Given the description of an element on the screen output the (x, y) to click on. 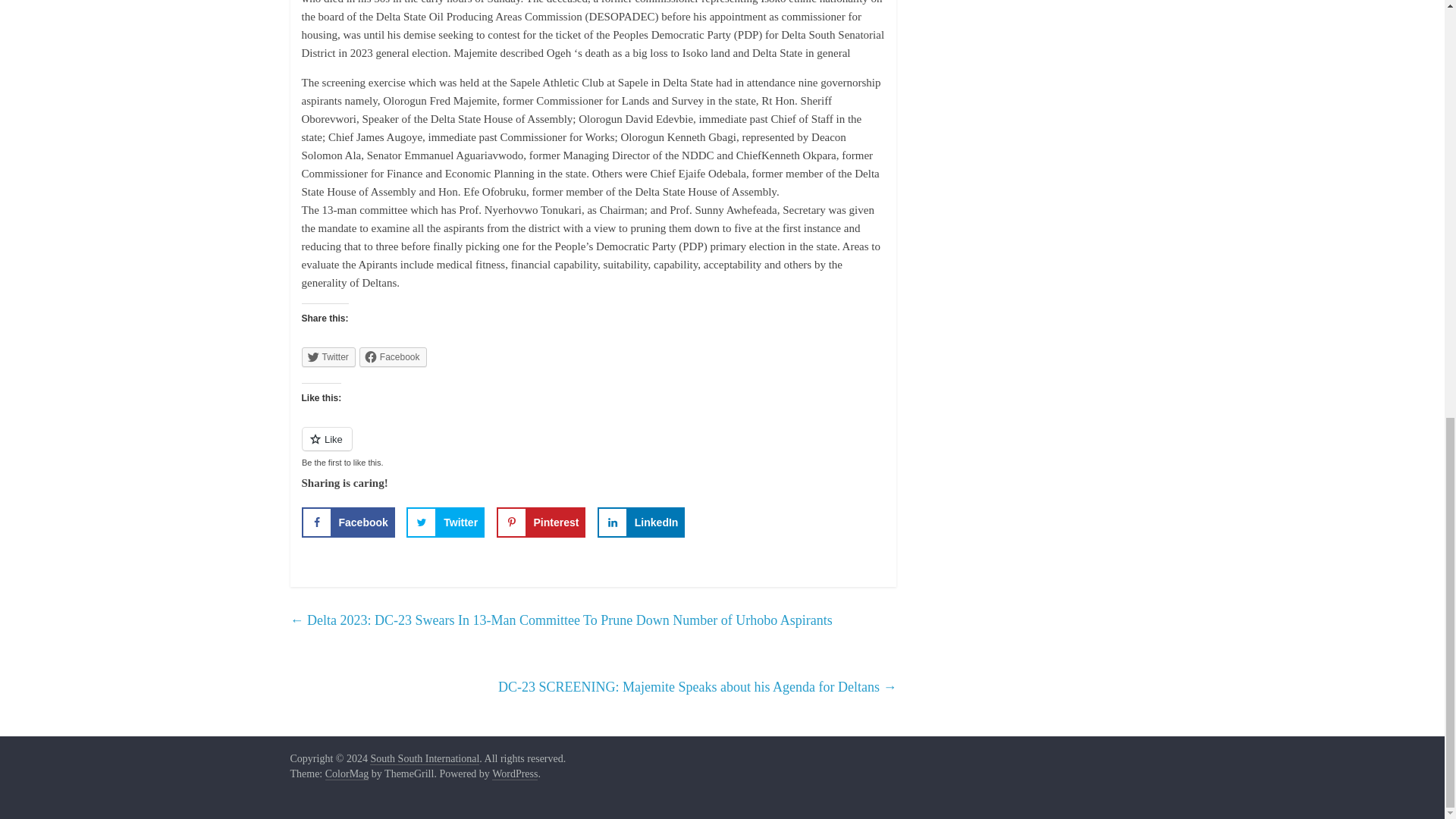
Click to share on Twitter (328, 356)
Click to share on Facebook (392, 356)
Share on Facebook (347, 521)
